Given the description of an element on the screen output the (x, y) to click on. 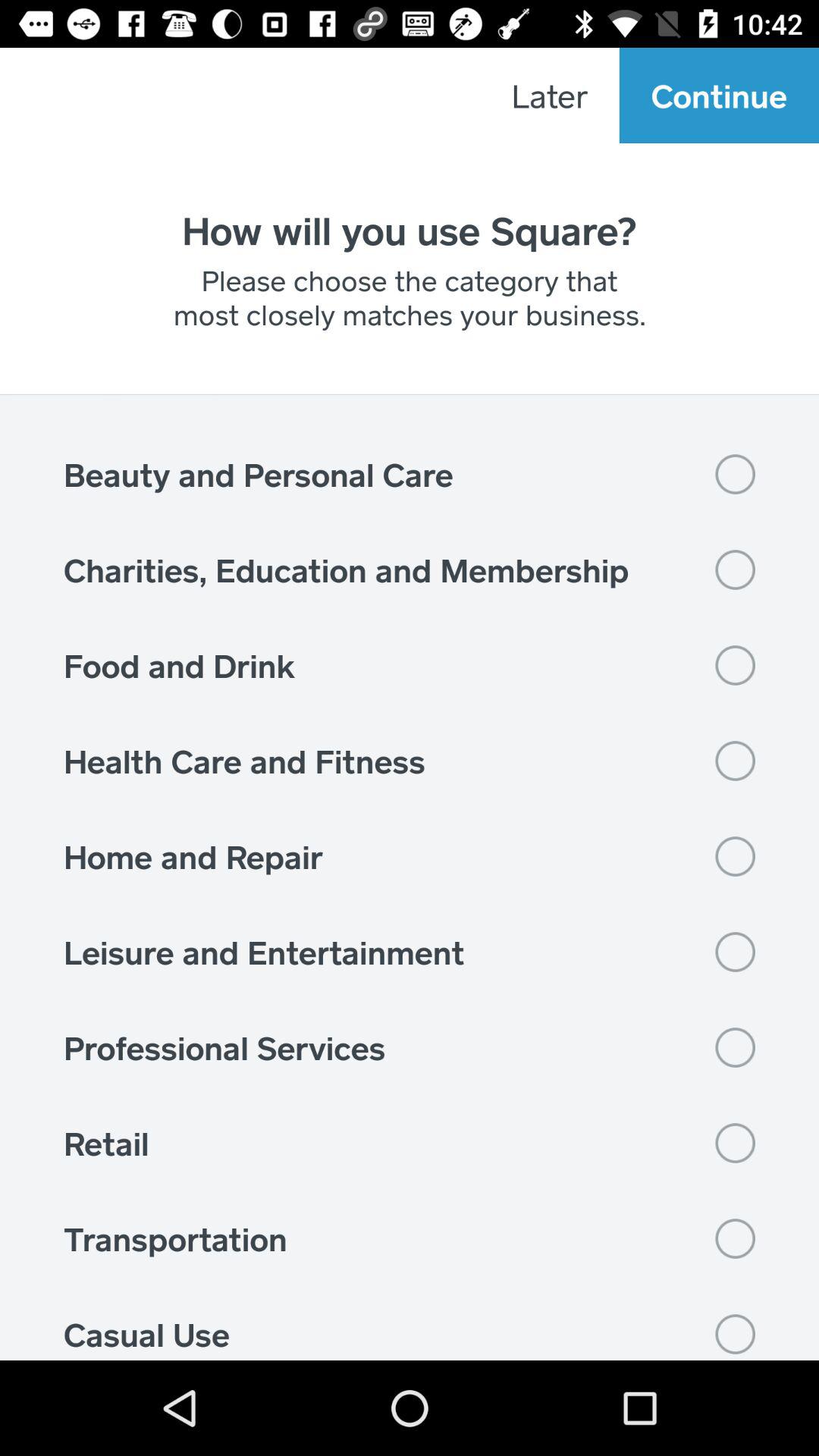
turn on how will you (409, 230)
